Given the description of an element on the screen output the (x, y) to click on. 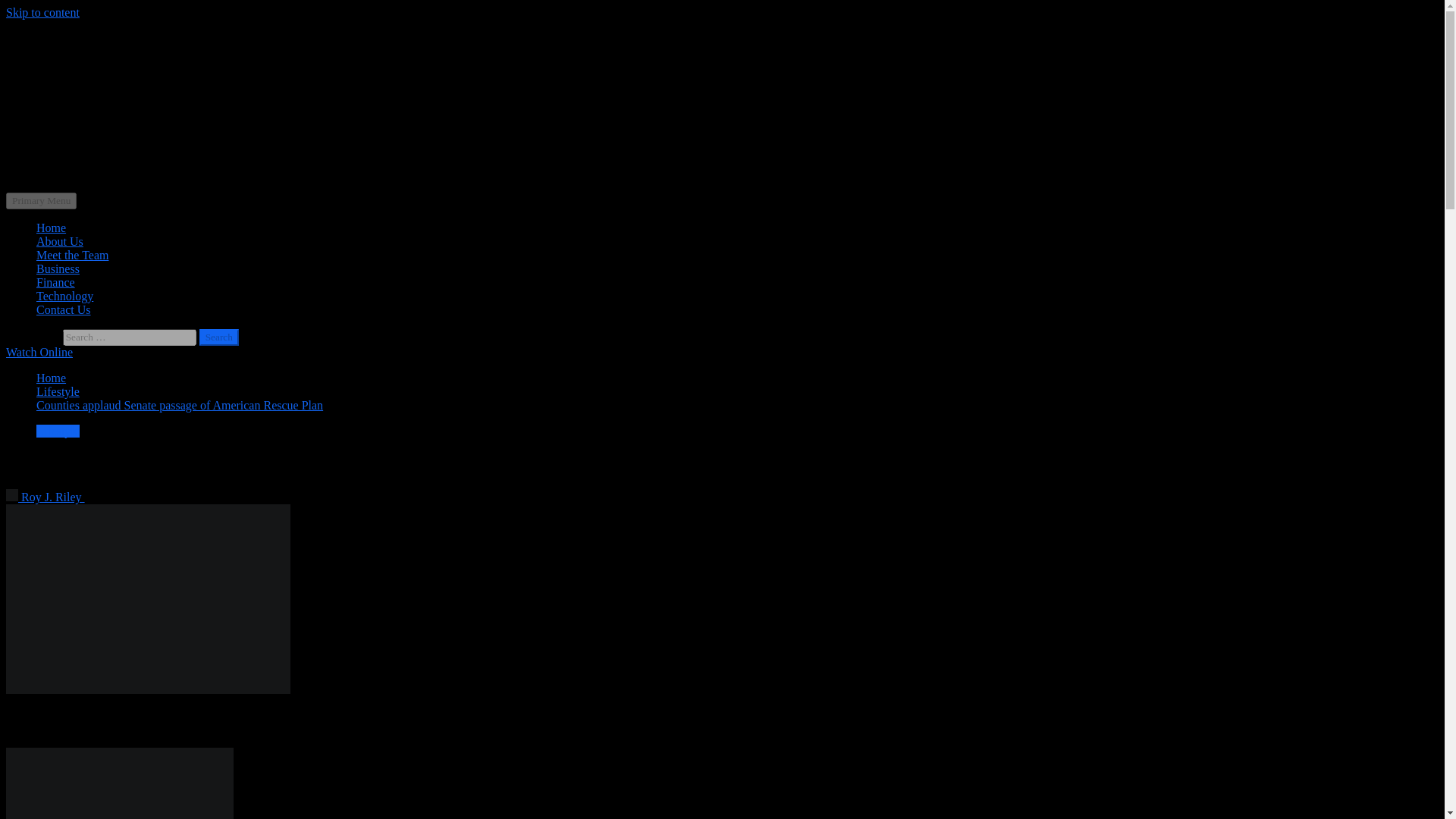
Meet the Team (71, 254)
Skip to content (42, 11)
Primary Menu (41, 200)
Watch Online (38, 351)
Business (58, 268)
Counties applaud Senate passage of American Rescue Plan (179, 404)
Finance (55, 282)
Search (218, 337)
Roy J. Riley (44, 496)
Search (218, 337)
About Us (59, 241)
Home (50, 377)
Lifestyle (58, 391)
Contact Us (63, 309)
Technology (64, 295)
